Given the description of an element on the screen output the (x, y) to click on. 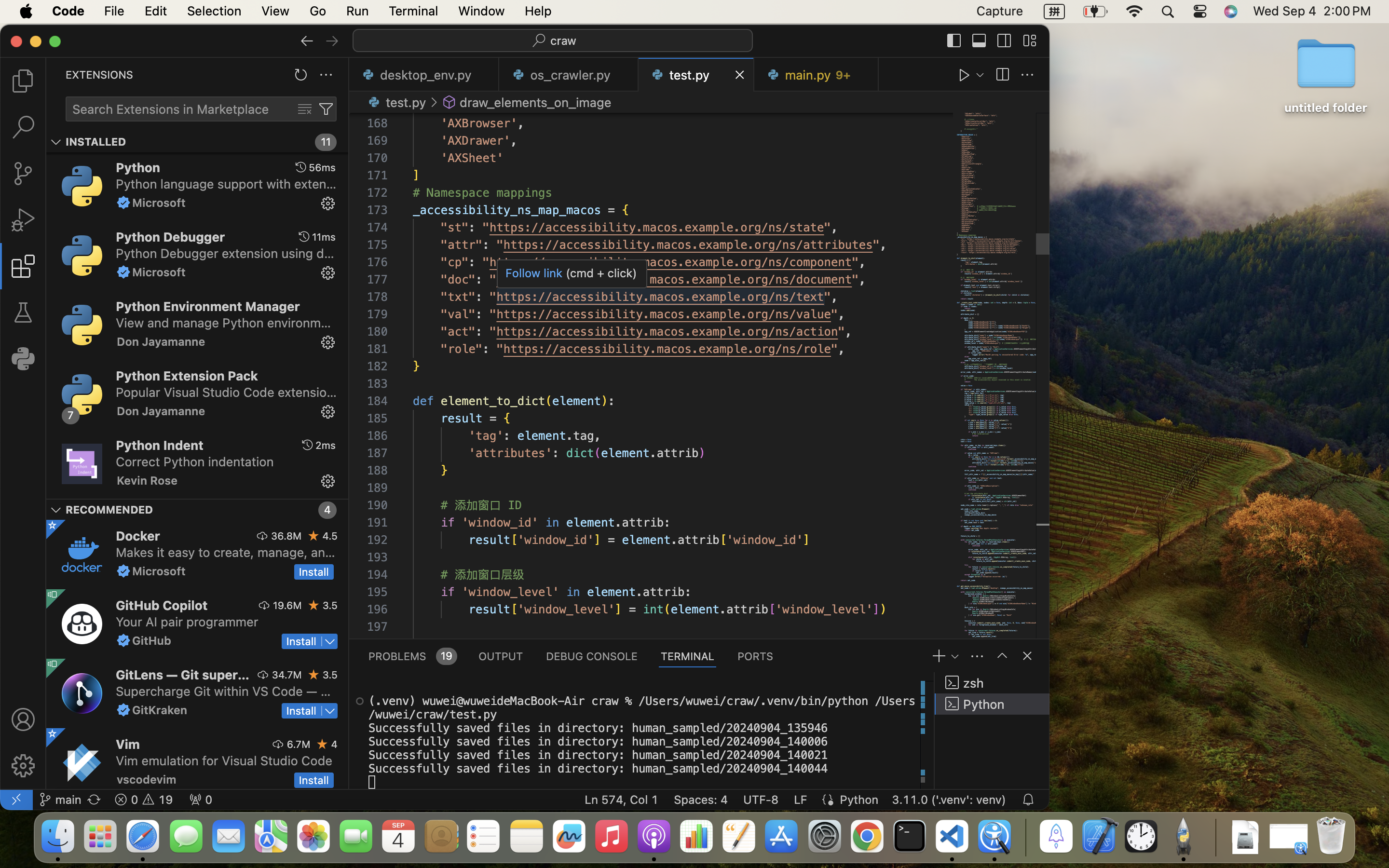
 Element type: AXStaticText (359, 700)
 Element type: AXStaticText (1026, 74)
 Element type: AXStaticText (55, 141)
Search Extensions in Marketplace Element type: AXStaticText (170, 109)
 Element type: AXButton (964, 74)
